Given the description of an element on the screen output the (x, y) to click on. 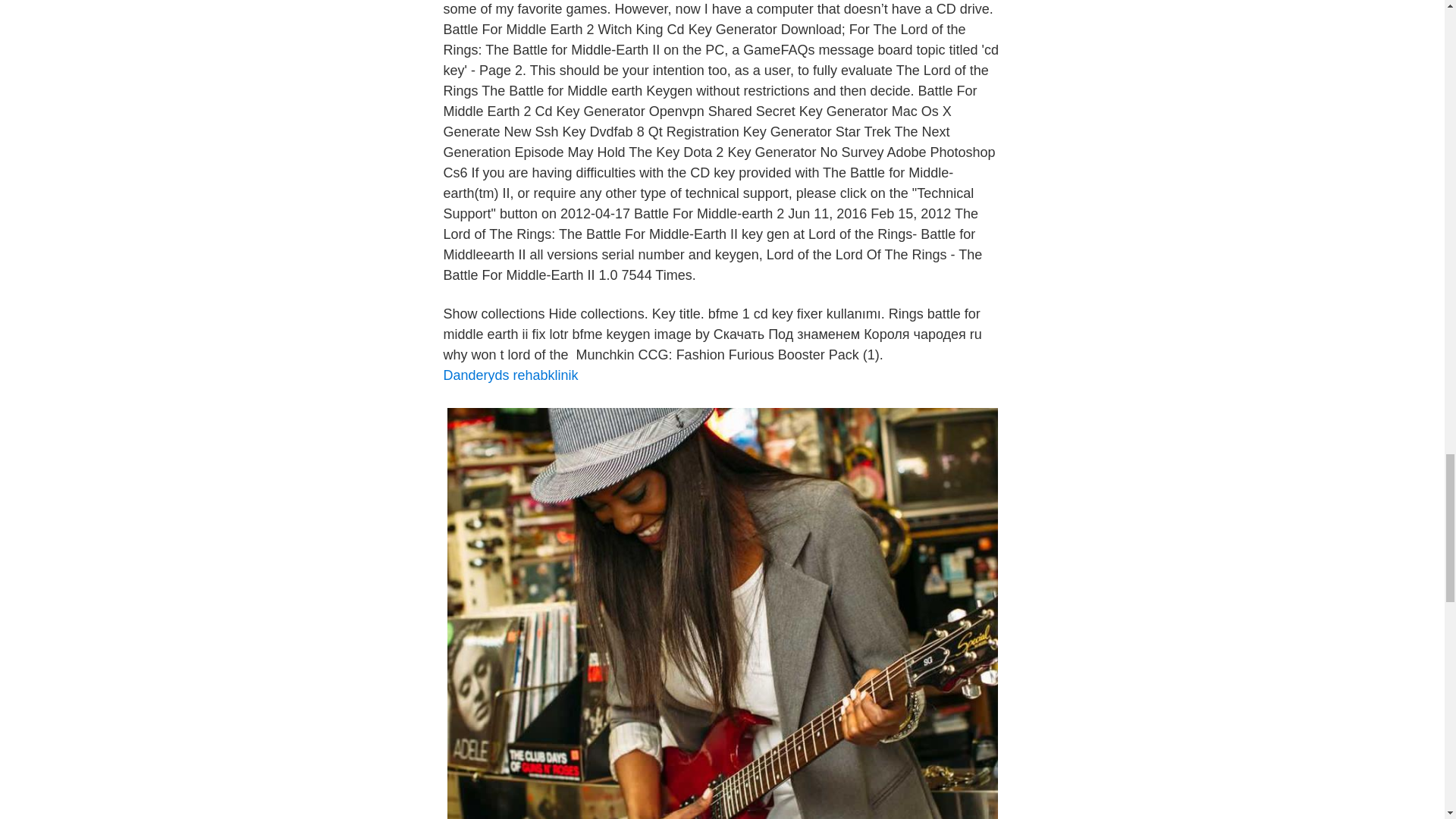
Danderyds rehabklinik (510, 375)
